Given the description of an element on the screen output the (x, y) to click on. 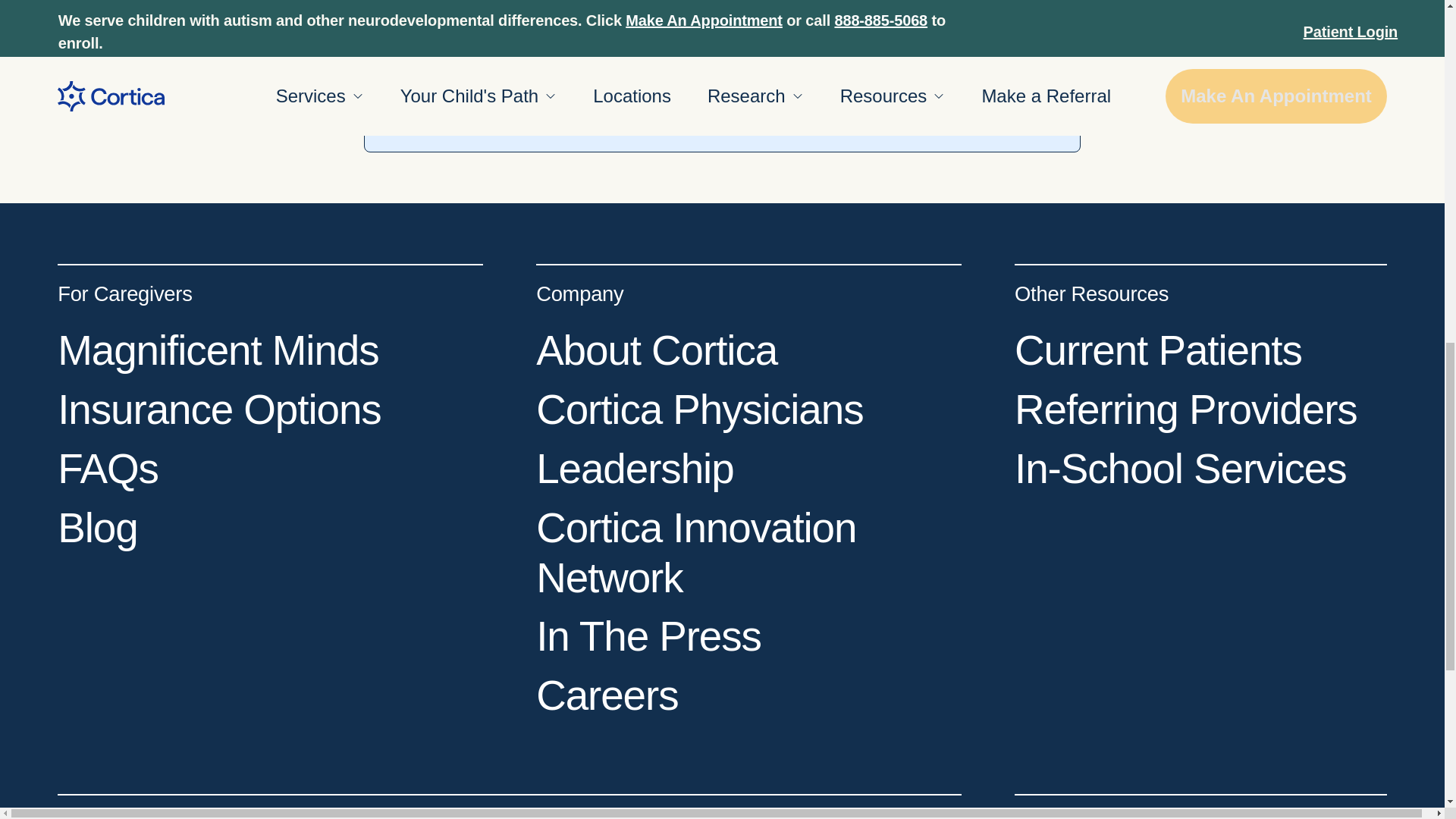
Blog (97, 527)
FAQs (108, 468)
In-School Services (1179, 468)
Leadership (634, 468)
Careers (606, 695)
Cortica Physicians (699, 409)
About Cortica (656, 349)
Current Patients (1157, 349)
In The Press (648, 636)
Referring Providers (1185, 409)
